Given the description of an element on the screen output the (x, y) to click on. 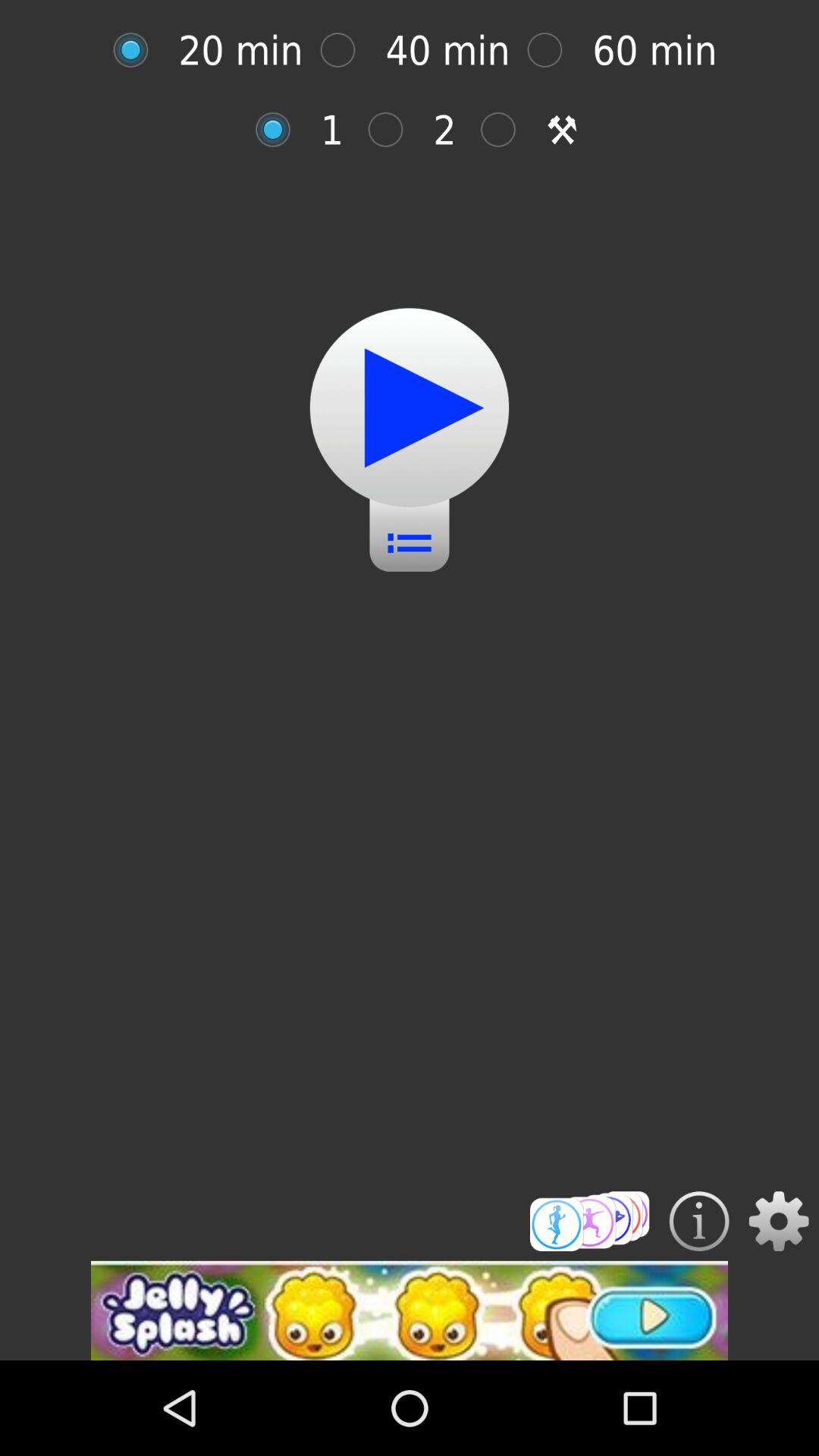
bring up settings (778, 1221)
